Given the description of an element on the screen output the (x, y) to click on. 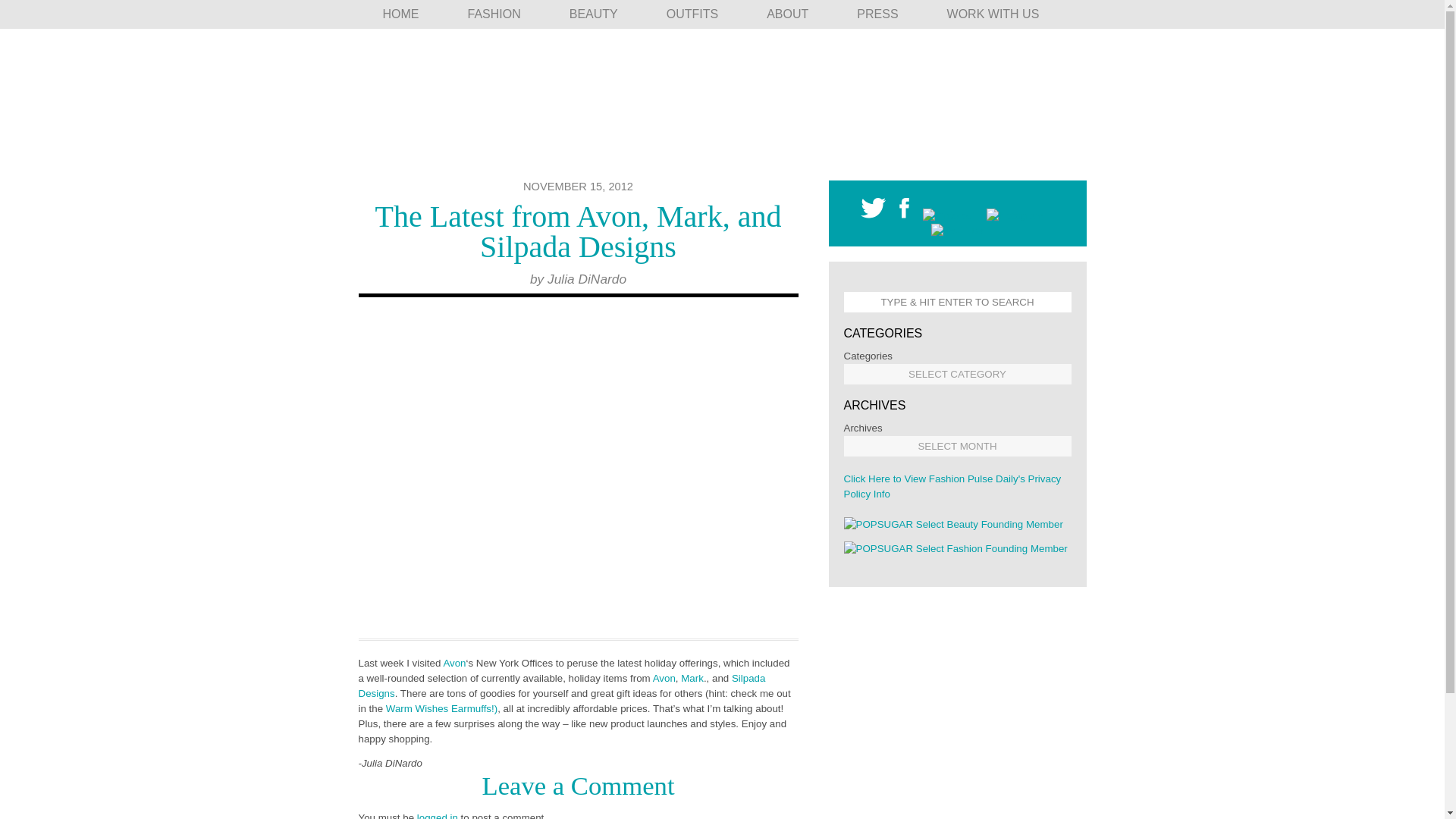
BEAUTY (593, 13)
Mark (692, 677)
PRESS (877, 13)
FASHION (493, 13)
Log in (437, 815)
Avon (663, 677)
ABOUT (787, 13)
Julia DiNardo (586, 278)
WORK WITH US (993, 13)
The Latest from Avon, Mark, and Silpada Designs (578, 231)
Julia DiNardo (586, 278)
logged in (437, 815)
HOME (400, 13)
OUTFITS (691, 13)
Avon (453, 663)
